Given the description of an element on the screen output the (x, y) to click on. 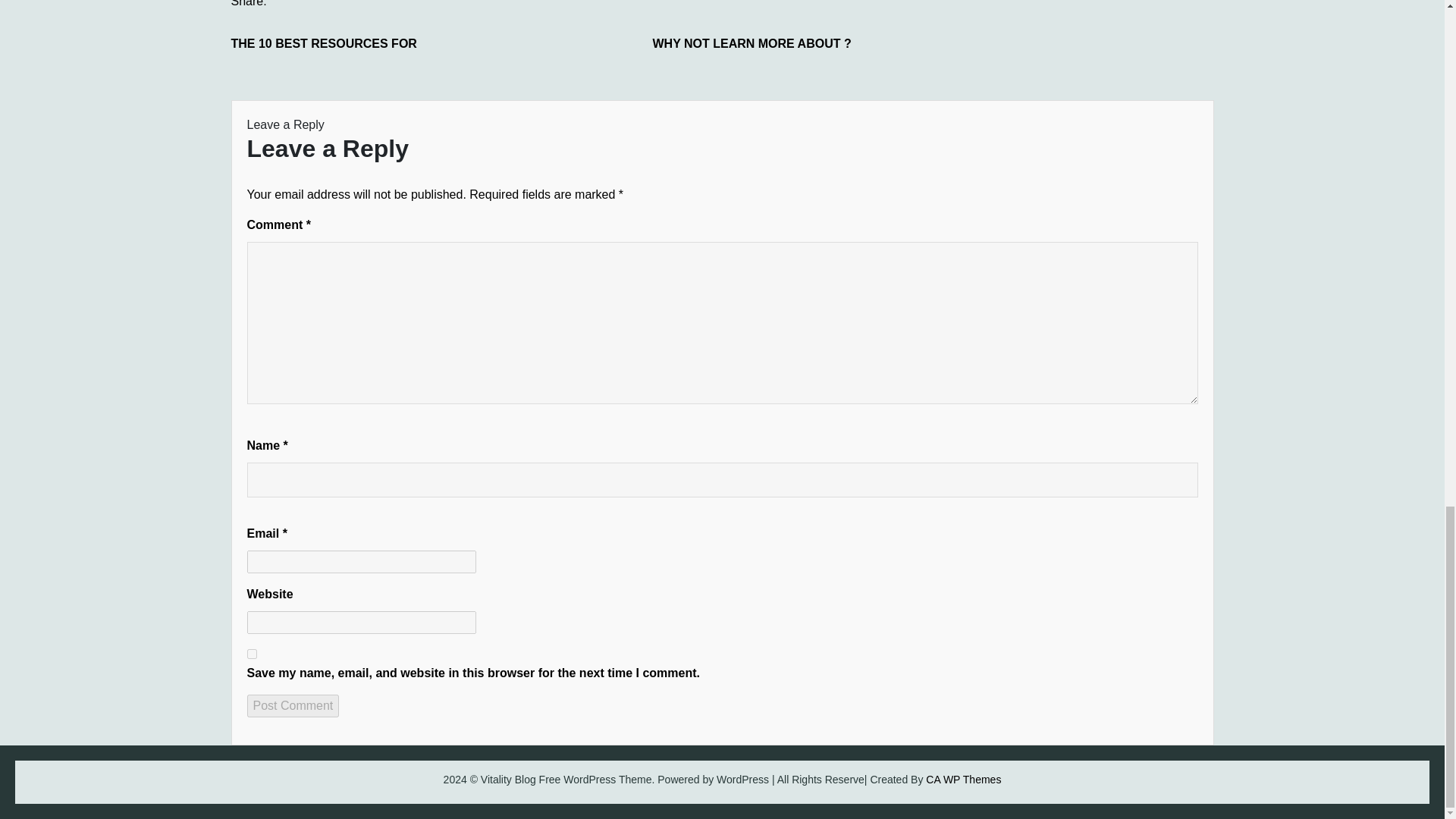
WHY NOT LEARN MORE ABOUT ? (765, 44)
THE 10 BEST RESOURCES FOR (344, 44)
Post Comment (293, 705)
CA WP Themes (963, 779)
yes (252, 654)
Post Comment (293, 705)
